Given the description of an element on the screen output the (x, y) to click on. 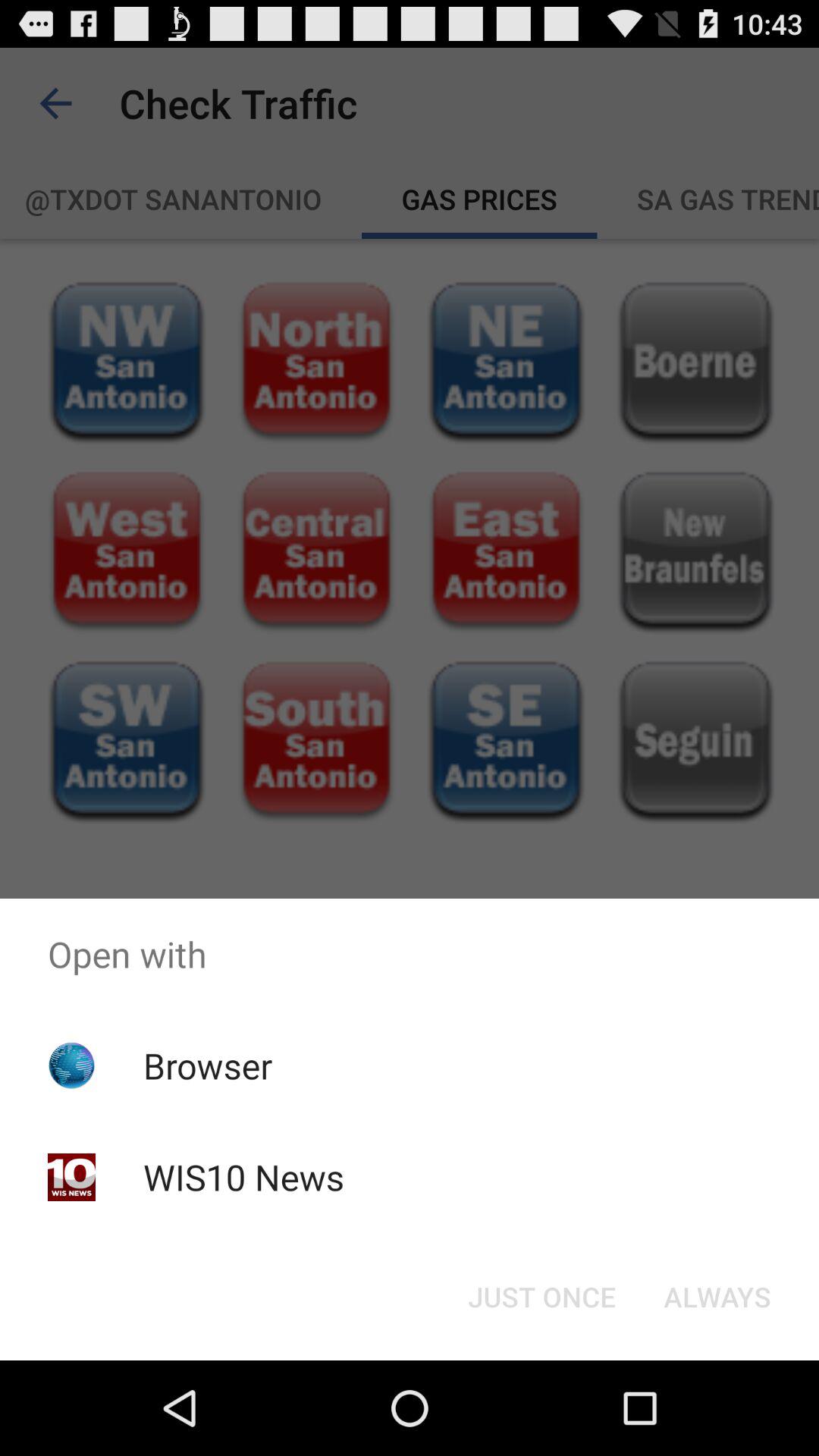
turn on icon at the bottom right corner (717, 1296)
